Given the description of an element on the screen output the (x, y) to click on. 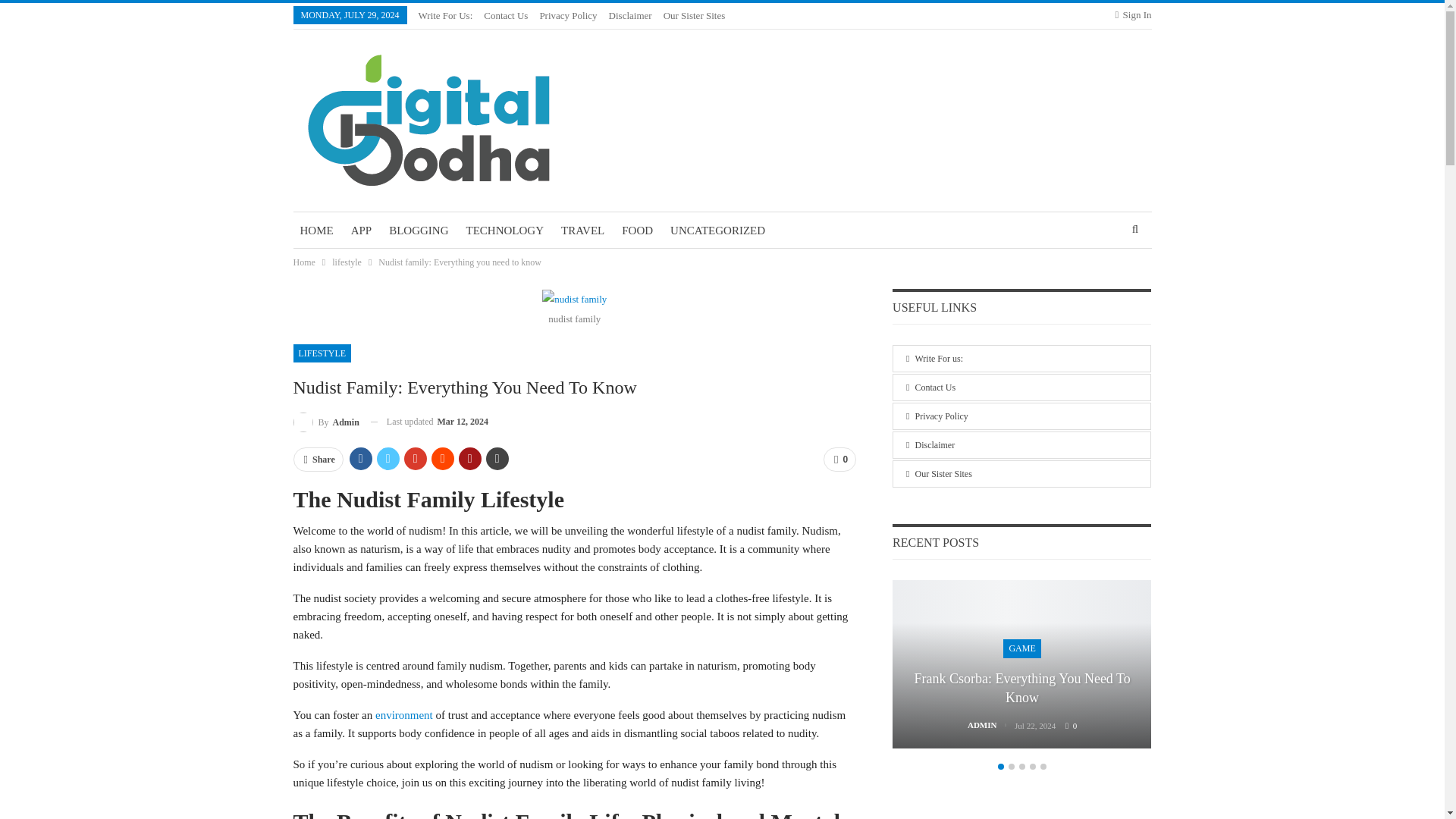
Sign In (1133, 14)
By Admin (325, 421)
lifestyle (346, 262)
FOOD (636, 230)
Privacy Policy (567, 15)
HOME (315, 230)
Browse Author Articles (325, 421)
APP (360, 230)
Home (303, 262)
Write For Us: (446, 15)
Disclaimer (630, 15)
Contact Us (505, 15)
environment (403, 715)
BLOGGING (417, 230)
LIFESTYLE (321, 352)
